Given the description of an element on the screen output the (x, y) to click on. 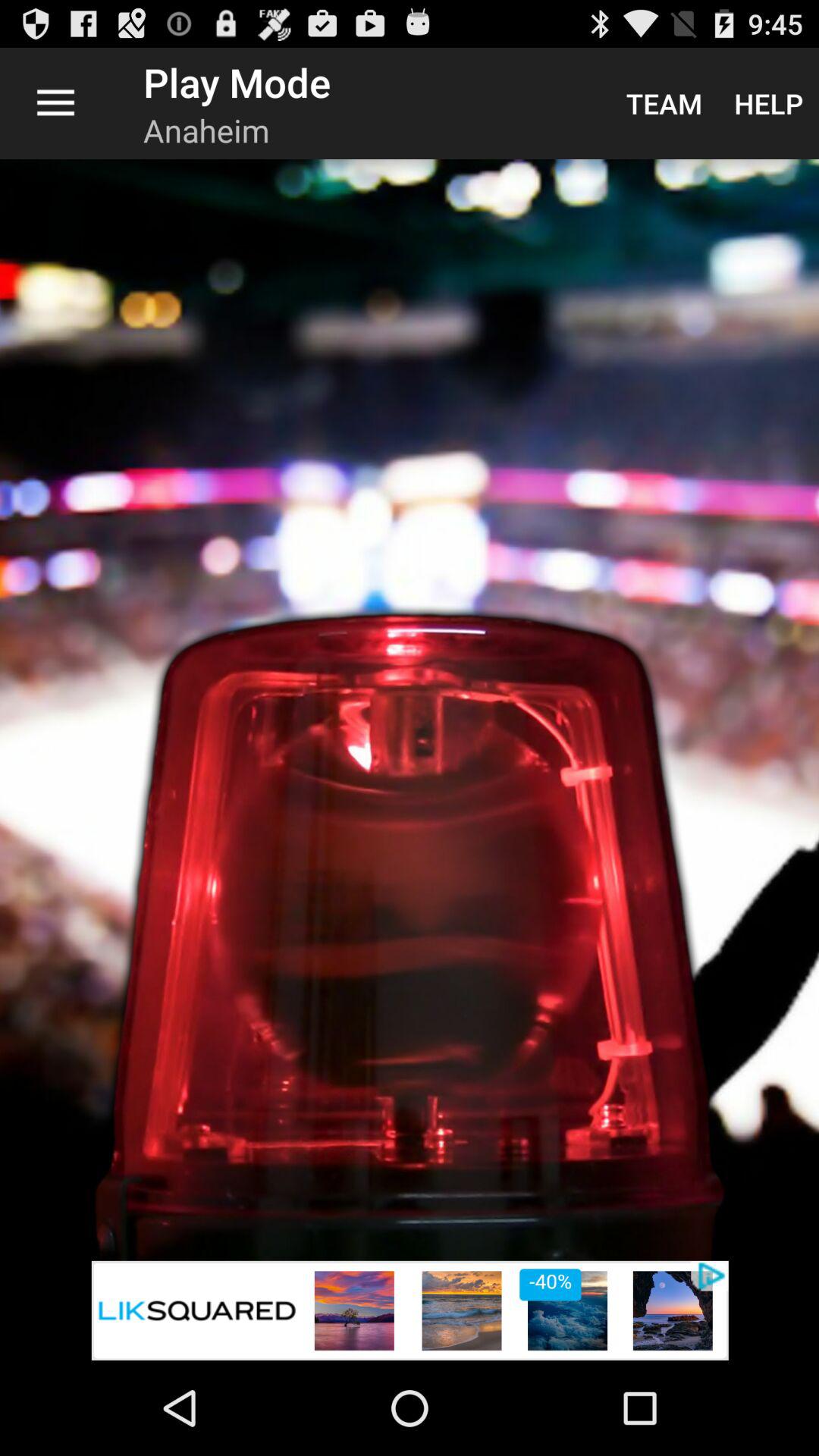
turn on item to the right of the team (768, 103)
